Given the description of an element on the screen output the (x, y) to click on. 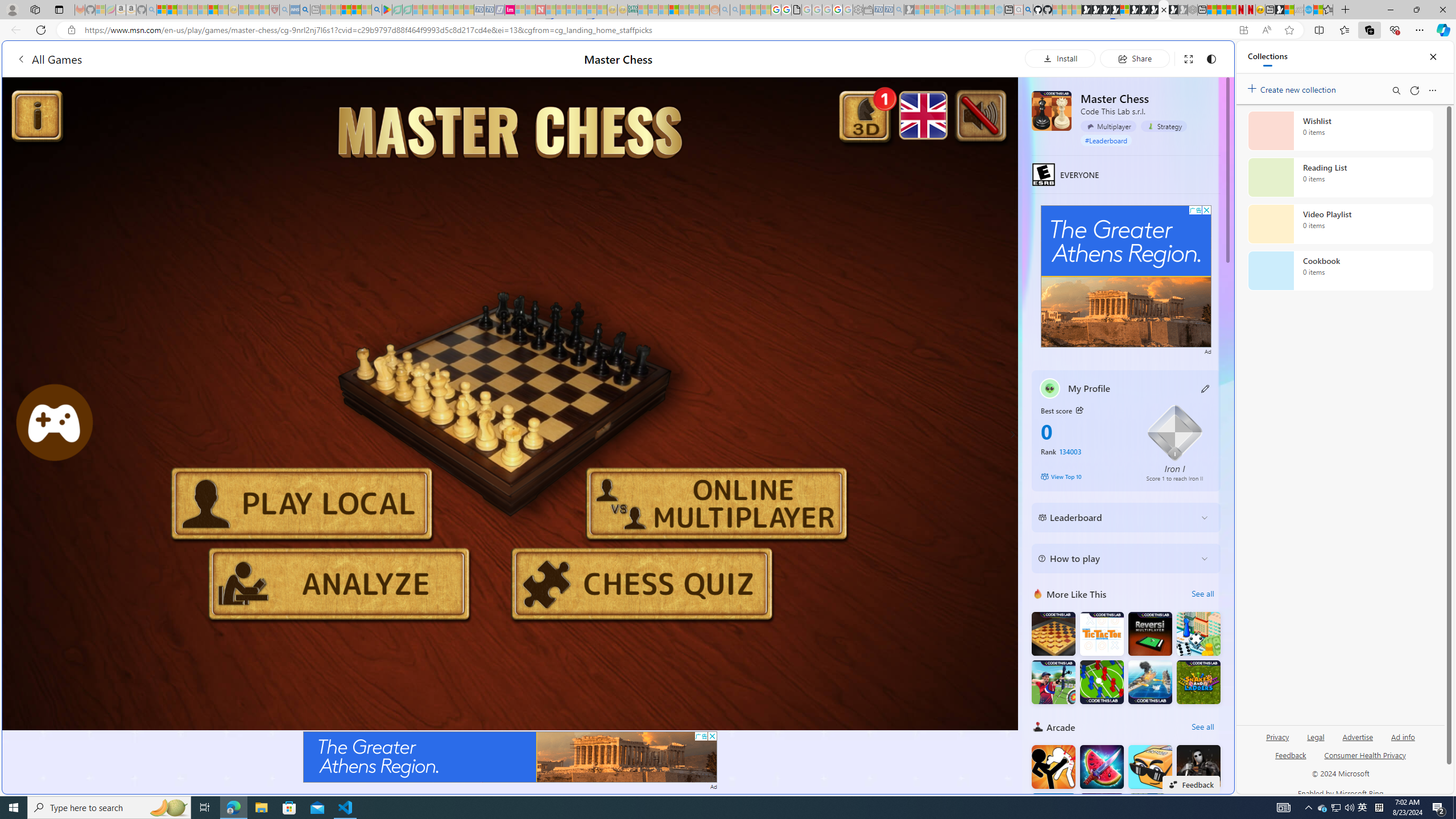
Change to dark mode (1211, 58)
Tabs you've opened (885, 151)
Battleship War Multiplayer (1149, 681)
Bing Real Estate - Home sales and rental listings - Sleeping (898, 9)
